Given the description of an element on the screen output the (x, y) to click on. 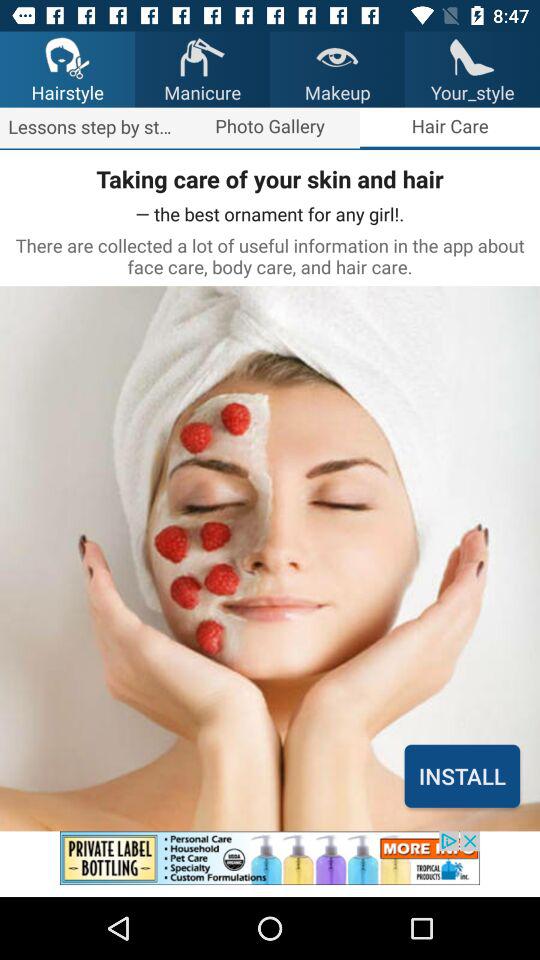
advertisement (270, 864)
